Given the description of an element on the screen output the (x, y) to click on. 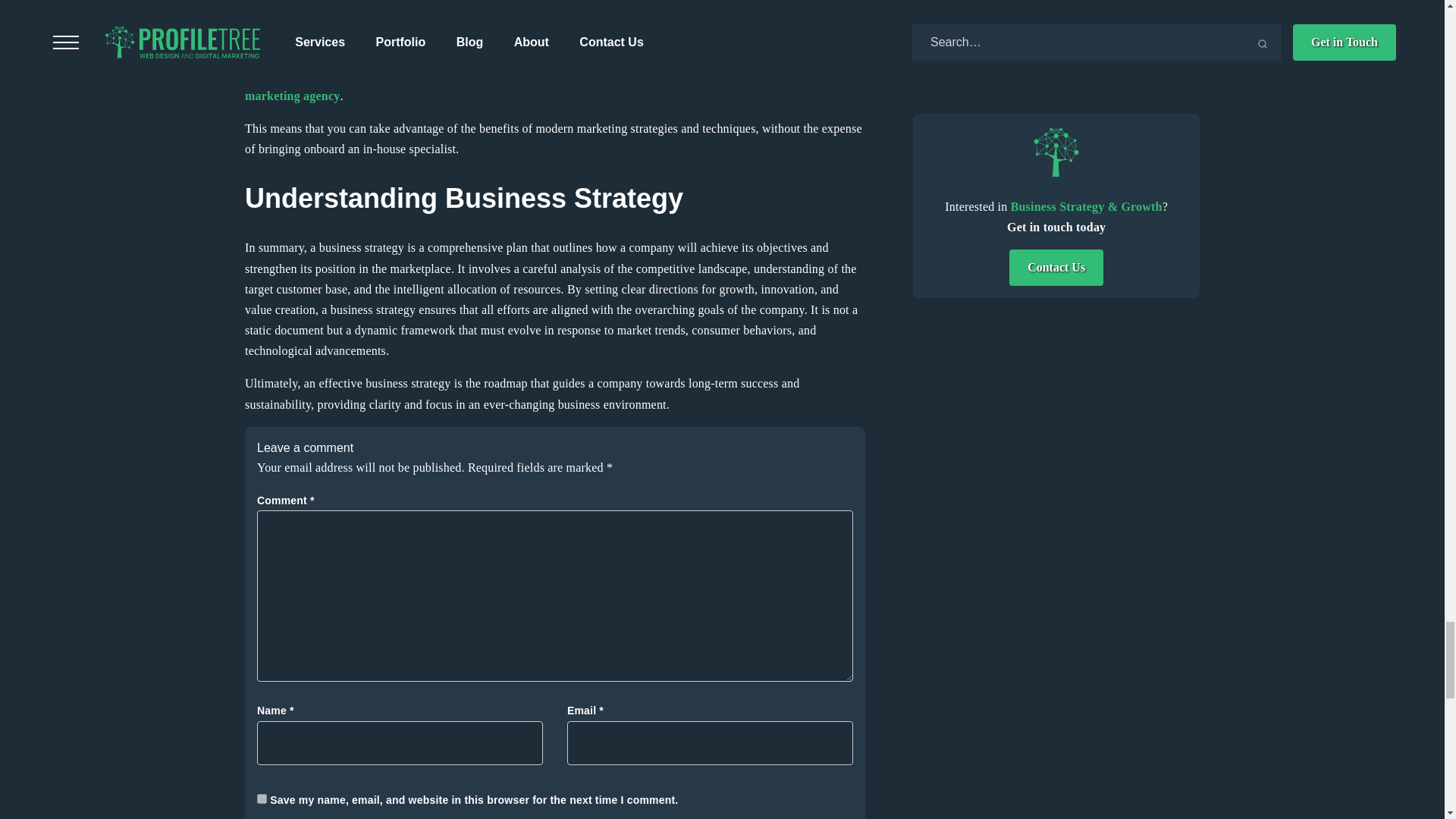
yes (261, 798)
